Given the description of an element on the screen output the (x, y) to click on. 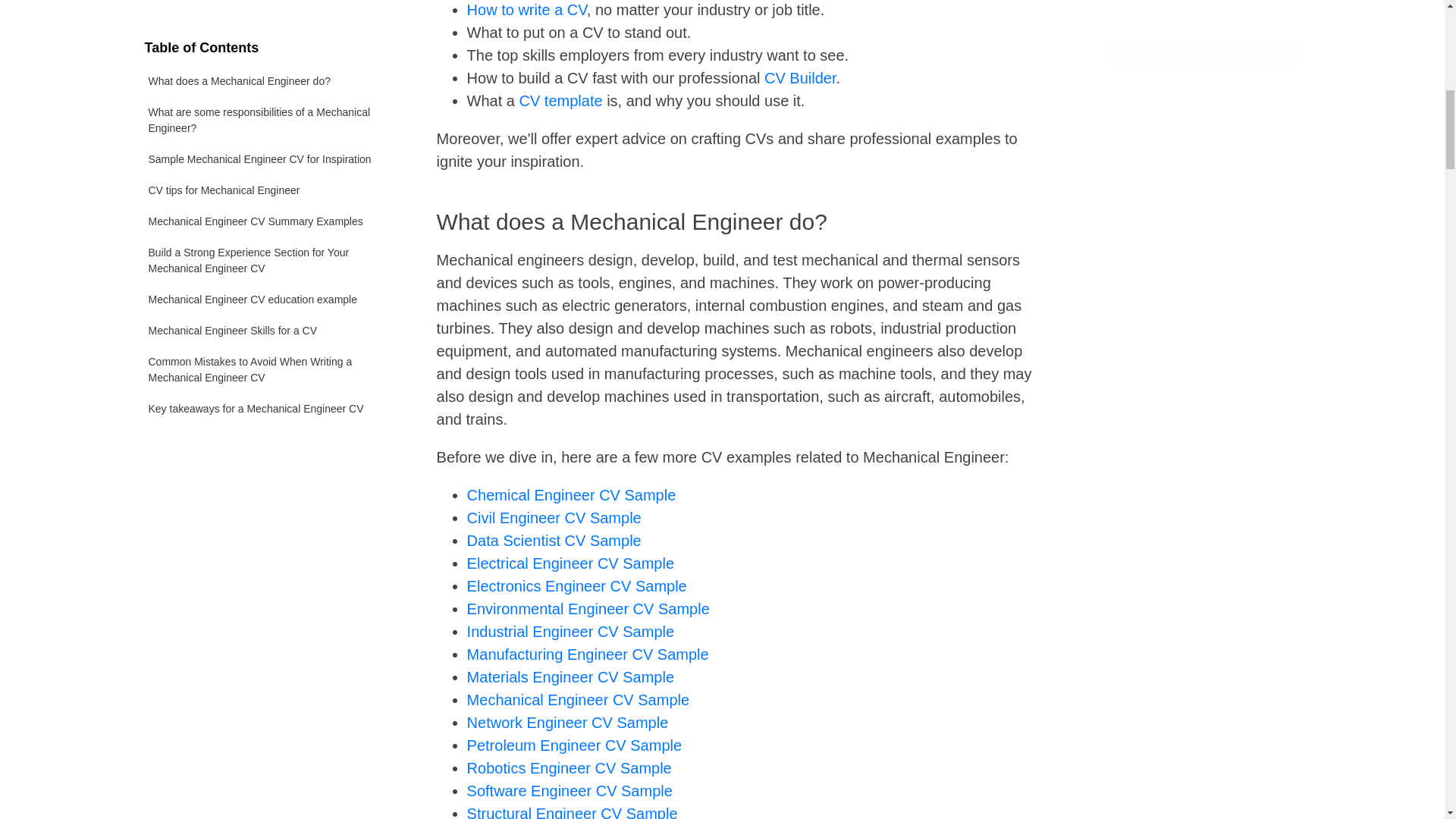
Mechanical Engineer CV Summary Examples (270, 4)
Key takeaways for a Mechanical Engineer CV (270, 179)
Electrical Engineer CV Sample (570, 563)
CV Builder (799, 77)
How to write a CV (526, 9)
Manufacturing Engineer CV Sample (588, 654)
Electronics Engineer CV Sample (577, 586)
Industrial Engineer CV Sample (570, 631)
CV template (560, 100)
Mechanical Engineer CV education example (270, 70)
Materials Engineer CV Sample (570, 677)
Environmental Engineer CV Sample (588, 608)
Data Scientist CV Sample (554, 540)
Chemical Engineer CV Sample (572, 494)
